Given the description of an element on the screen output the (x, y) to click on. 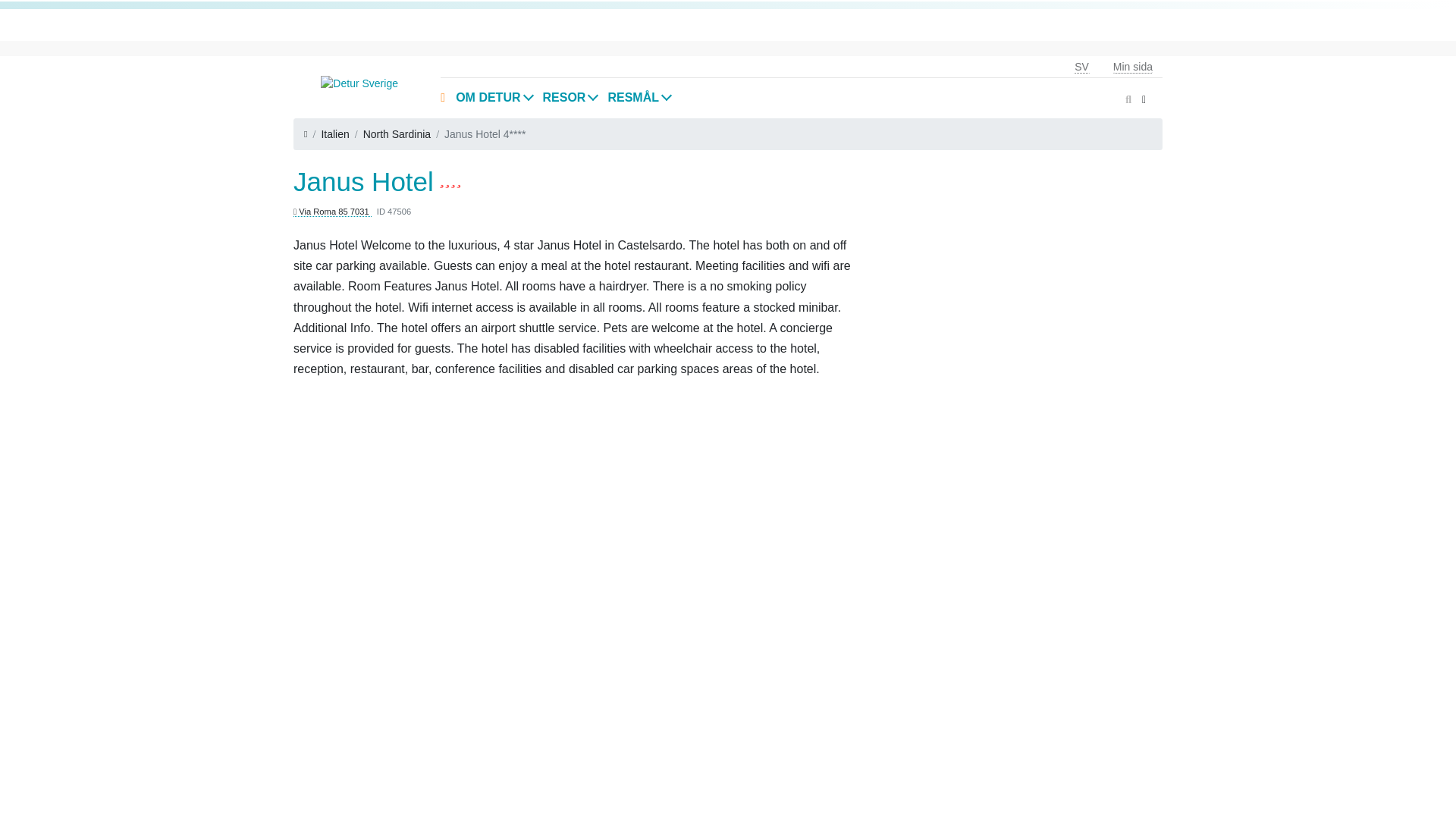
OM DETUR (493, 97)
Min sida (1132, 66)
SV (1081, 66)
RESOR (569, 97)
